Given the description of an element on the screen output the (x, y) to click on. 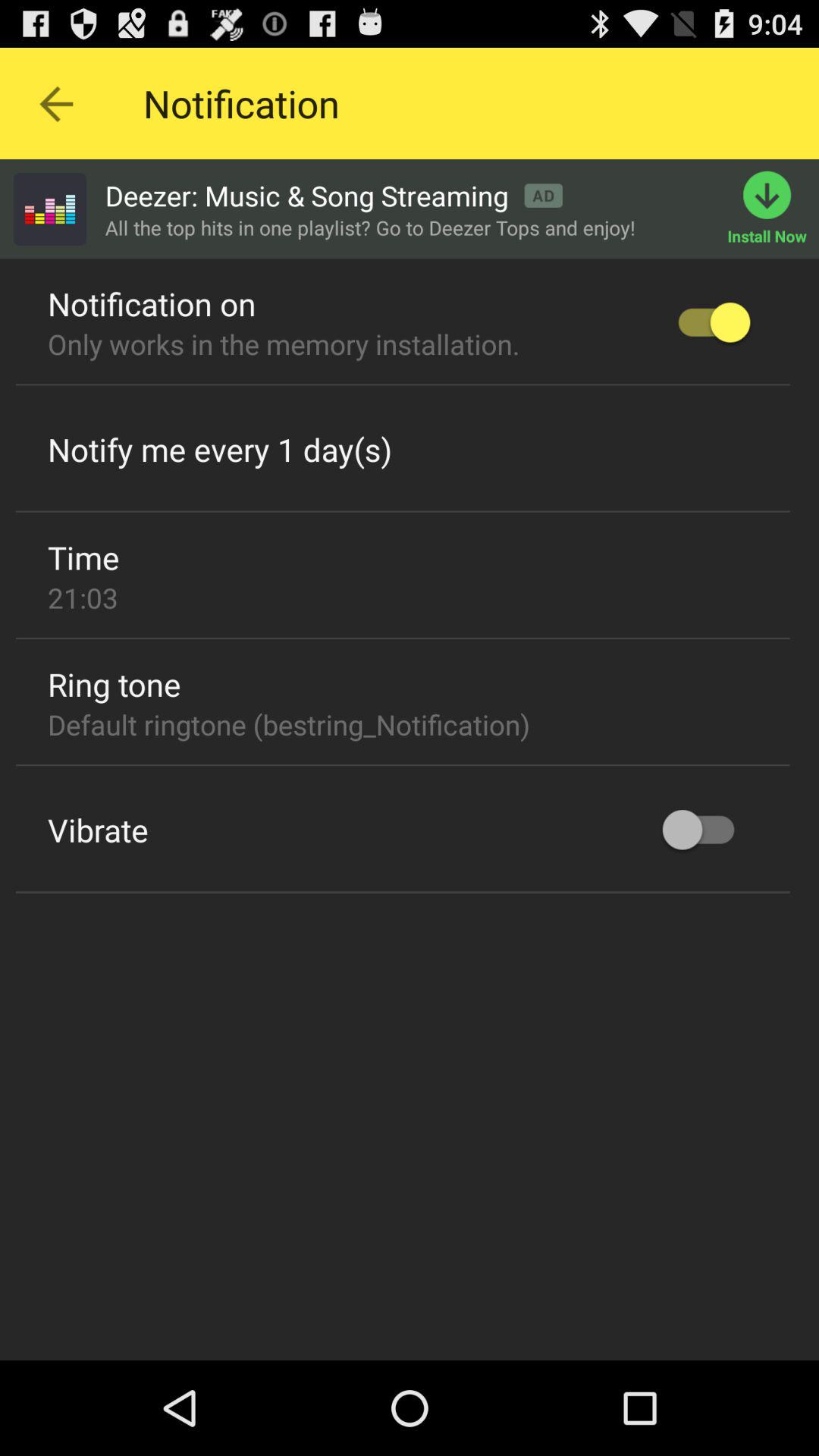
launch the app next to deezer music song app (49, 208)
